Given the description of an element on the screen output the (x, y) to click on. 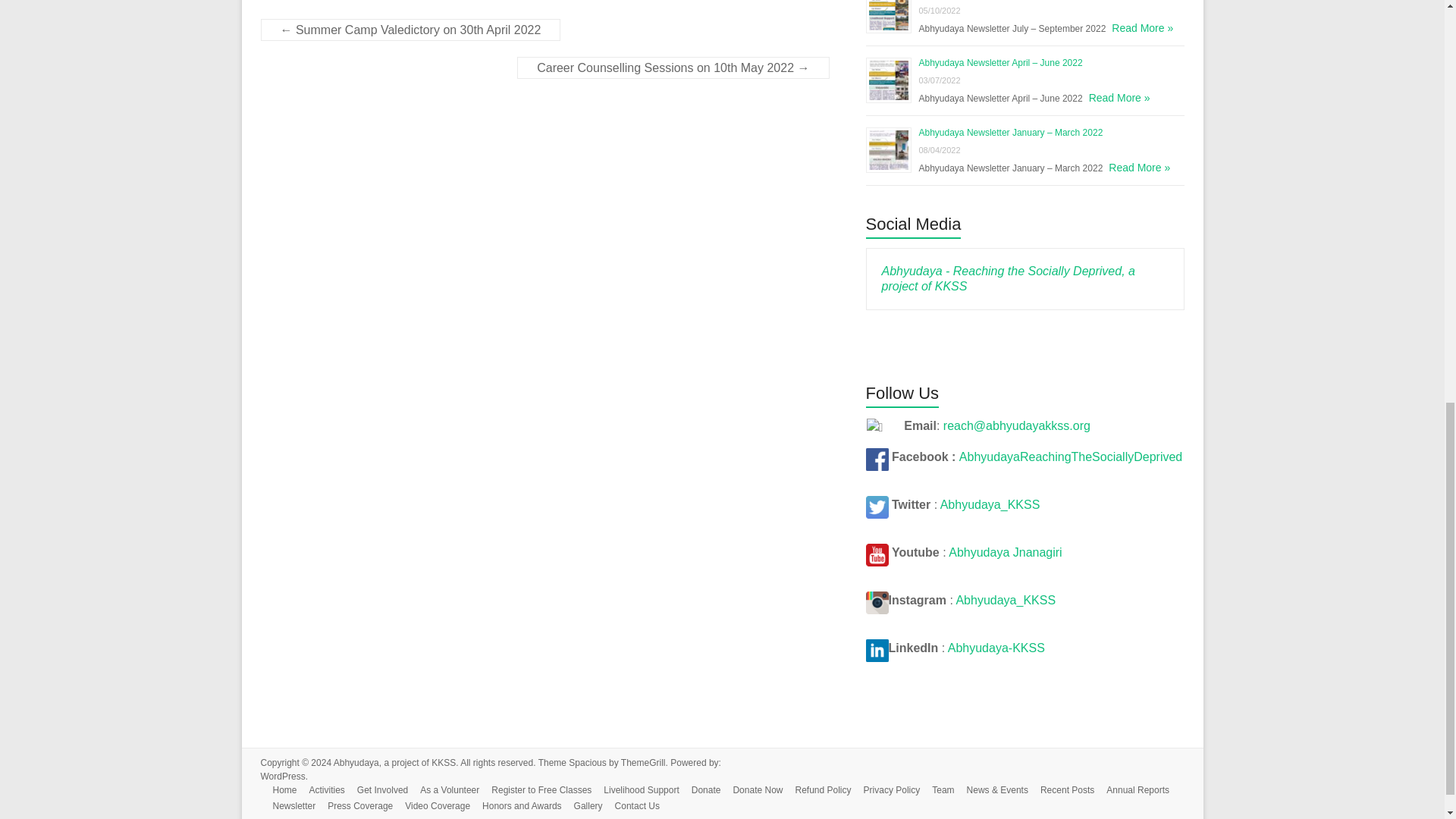
find us on Facebook (877, 456)
Abhyudaya, a project of KKSS (394, 762)
WordPress (282, 776)
follow me on instagram (877, 599)
follow me on youtube (877, 552)
connect on linkedin (877, 647)
follow me on twitter (877, 504)
Spacious (587, 762)
